Given the description of an element on the screen output the (x, y) to click on. 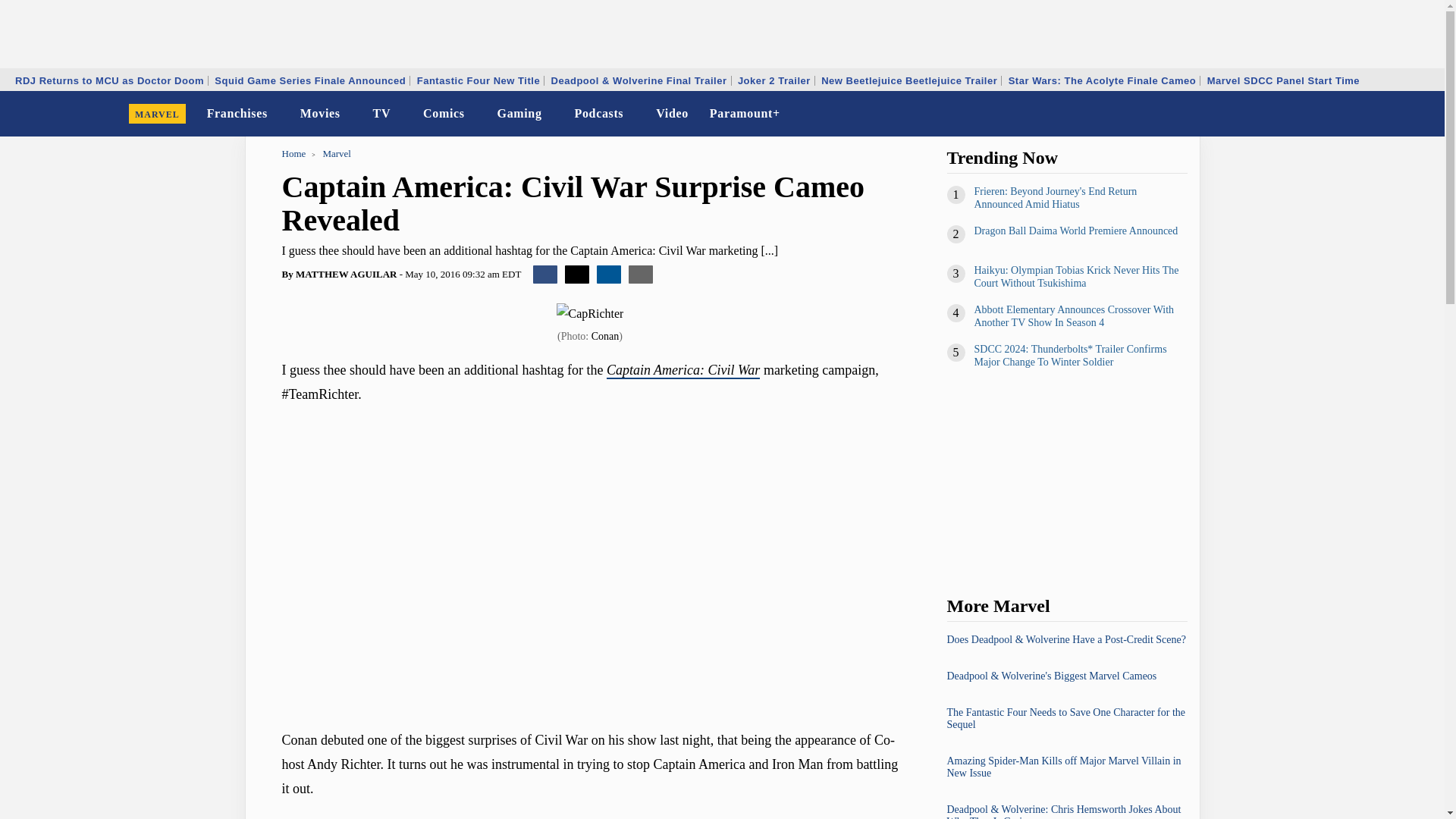
RDJ Returns to MCU as Doctor Doom (109, 80)
Star Wars: The Acolyte Finale Cameo (1101, 80)
New Beetlejuice Beetlejuice Trailer (908, 80)
Movies (320, 113)
Fantastic Four New Title (478, 80)
Dark Mode (1394, 113)
Squid Game Series Finale Announced (310, 80)
CapRichter (590, 313)
Joker 2 Trailer (773, 80)
MARVEL (157, 113)
Search (1422, 114)
Marvel SDCC Panel Start Time (1283, 80)
